Given the description of an element on the screen output the (x, y) to click on. 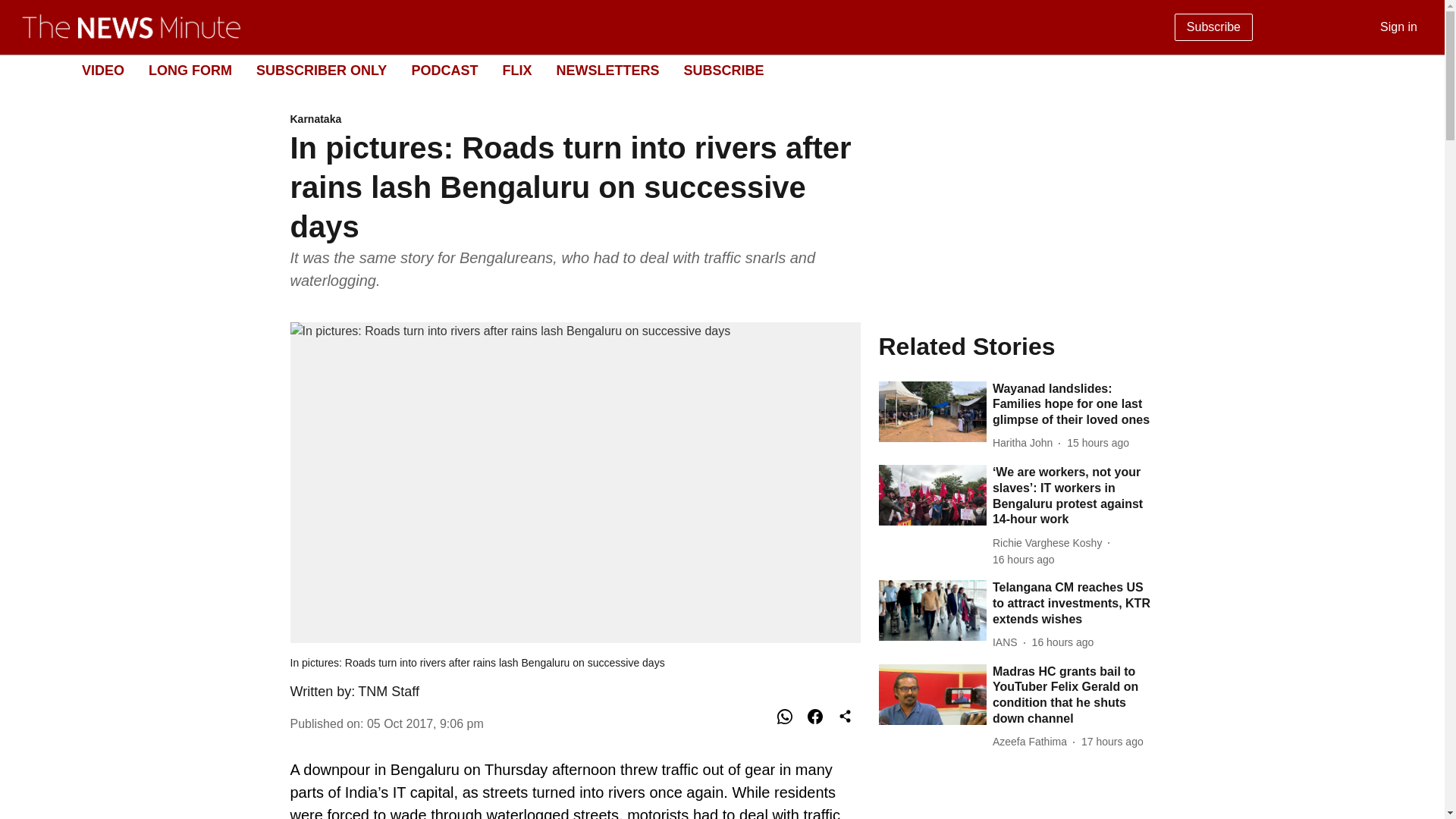
VIDEO (102, 70)
Dark Mode (1415, 70)
LONG FORM (189, 70)
NEWSLETTERS (607, 70)
SUBSCRIBER ONLY (321, 70)
SUBSCRIBE (722, 70)
FLIX (516, 70)
Karnataka (574, 119)
2024-08-04 13:54 (1098, 442)
TNM Staff (388, 691)
2024-08-04 11:49 (1111, 741)
2024-08-04 12:00 (1063, 642)
2017-10-05 13:06 (424, 723)
2024-08-04 12:31 (1023, 560)
